Given the description of an element on the screen output the (x, y) to click on. 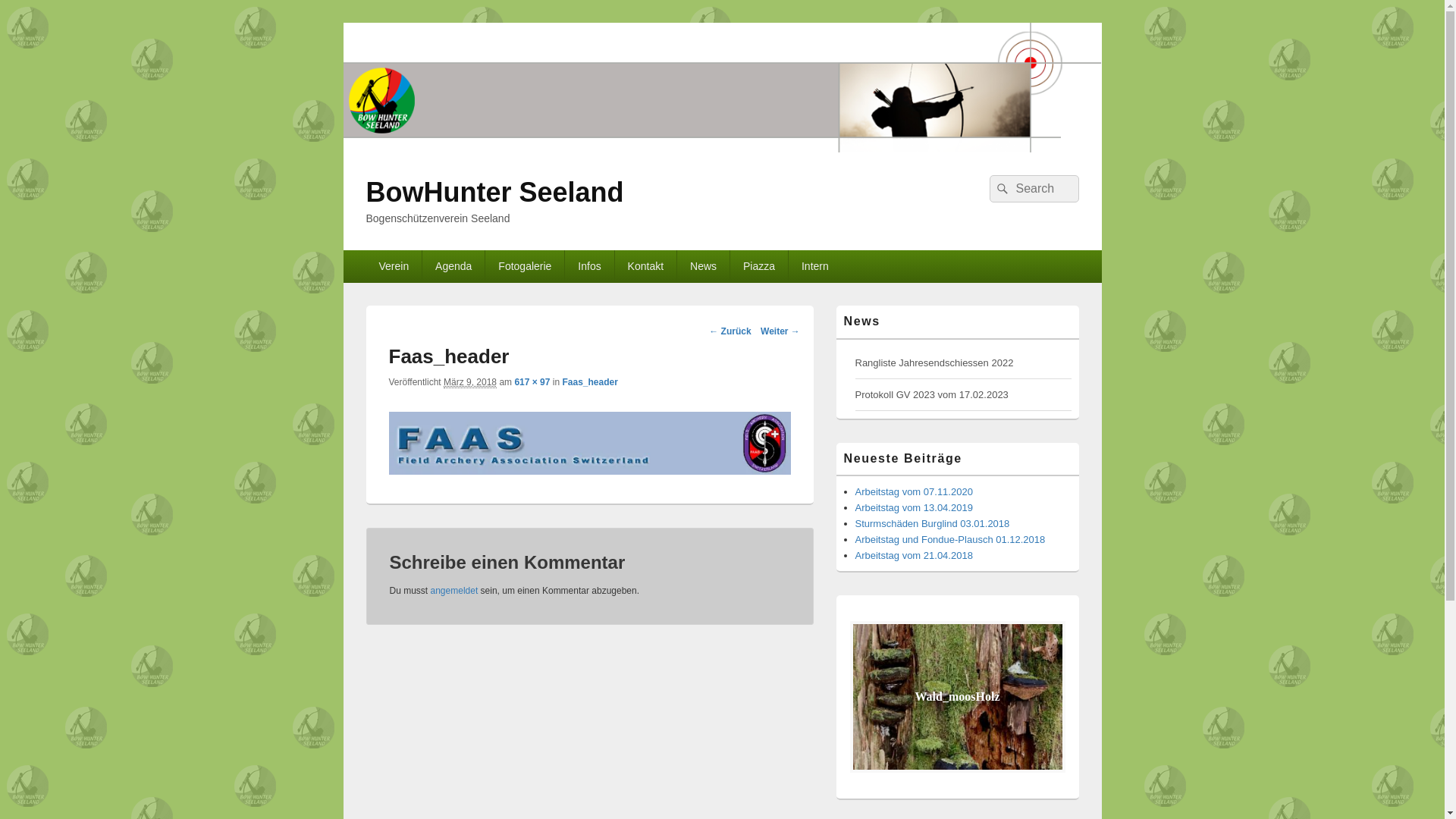
Faas_header Element type: hover (589, 470)
Faas_header Element type: text (589, 381)
BowHunter Seeland Element type: text (494, 191)
Intern Element type: text (814, 266)
Infos Element type: text (588, 266)
Search for: Element type: hover (1033, 188)
Agenda Element type: text (453, 266)
Kontakt Element type: text (645, 266)
News Element type: text (703, 266)
Wald_moosHolz Element type: text (956, 696)
Fotogalerie Element type: text (524, 266)
Piazza Element type: text (758, 266)
Arbeitstag vom 07.11.2020 Element type: text (913, 491)
Arbeitstag und Fondue-Plausch 01.12.2018 Element type: text (950, 539)
angemeldet Element type: text (454, 590)
Arbeitstag vom 13.04.2019 Element type: text (913, 507)
Verein Element type: text (393, 266)
Arbeitstag vom 21.04.2018 Element type: text (913, 555)
Rangliste Jahresendschiessen 2022 Element type: text (934, 362)
Protokoll GV 2023 vom 17.02.2023 Element type: text (931, 394)
BowHunter Seeland Element type: hover (721, 147)
